Given the description of an element on the screen output the (x, y) to click on. 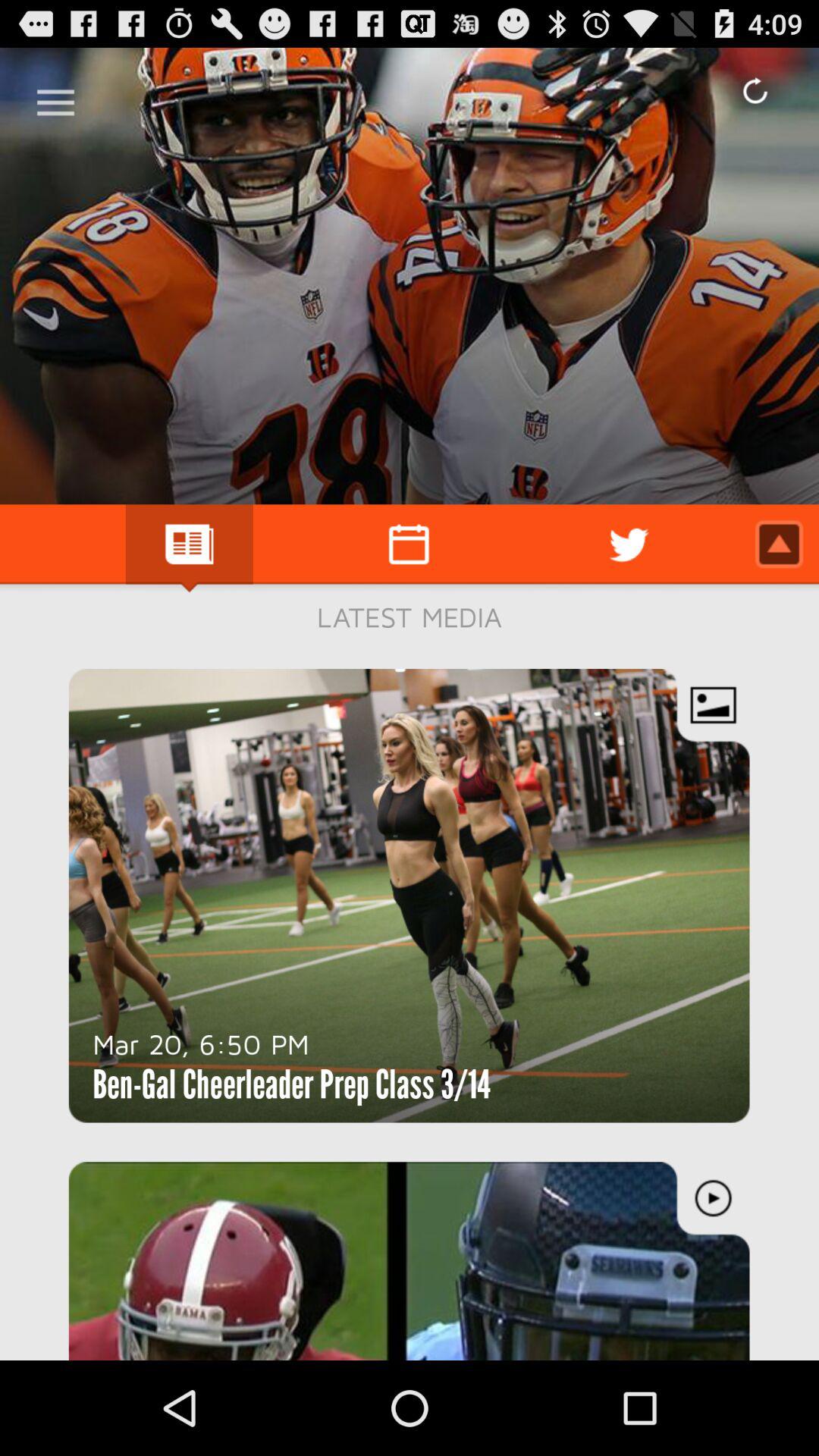
open the item above ben gal cheerleader item (200, 1043)
